Given the description of an element on the screen output the (x, y) to click on. 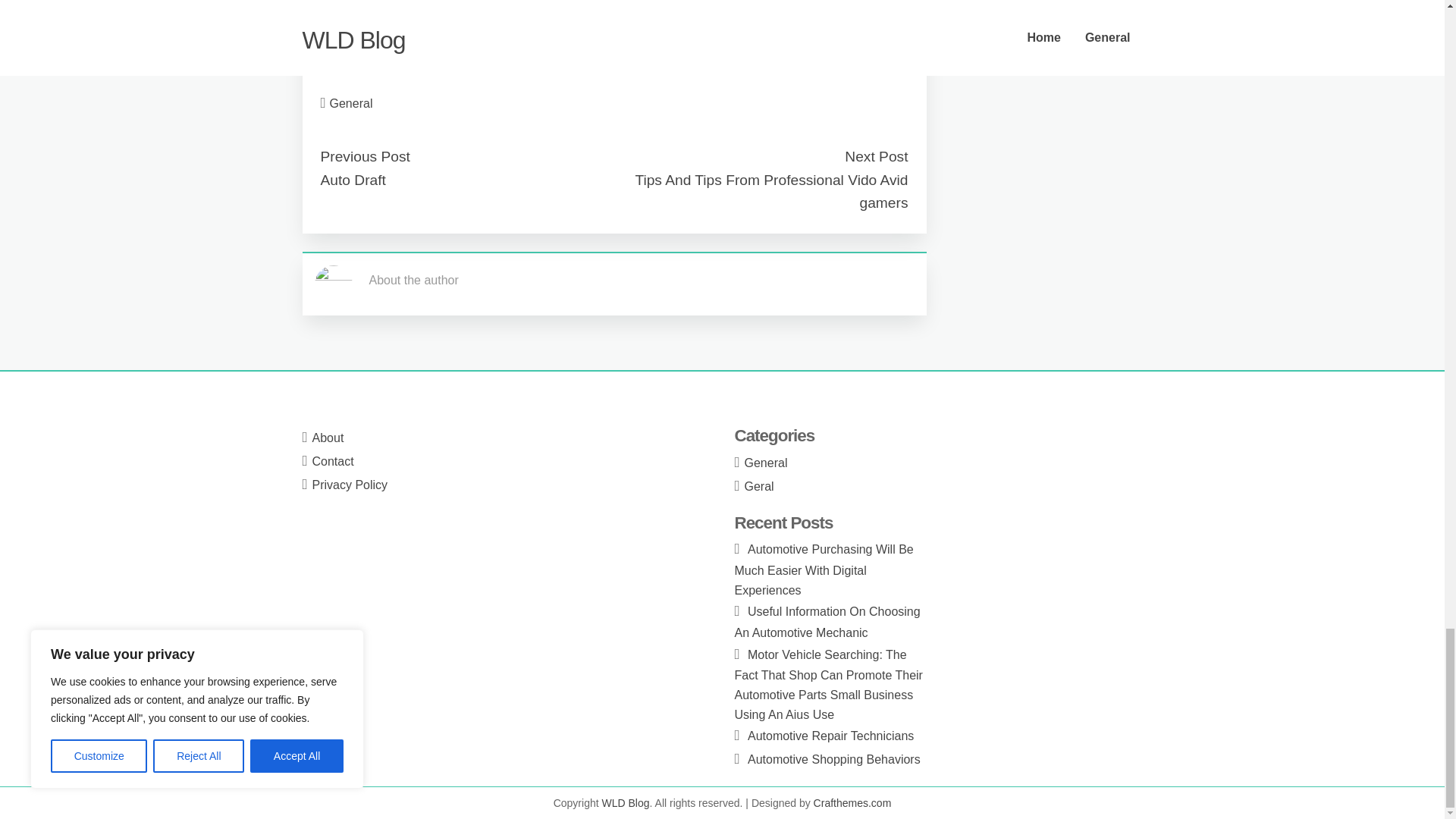
Useful Information On Choosing An Automotive Mechanic (826, 622)
General (351, 103)
Auto Draft (352, 179)
General (765, 462)
Tips And Tips From Professional Vido Avid gamers (770, 191)
About (328, 437)
Previous Post (364, 156)
Geral (759, 486)
Contact (333, 461)
